Given the description of an element on the screen output the (x, y) to click on. 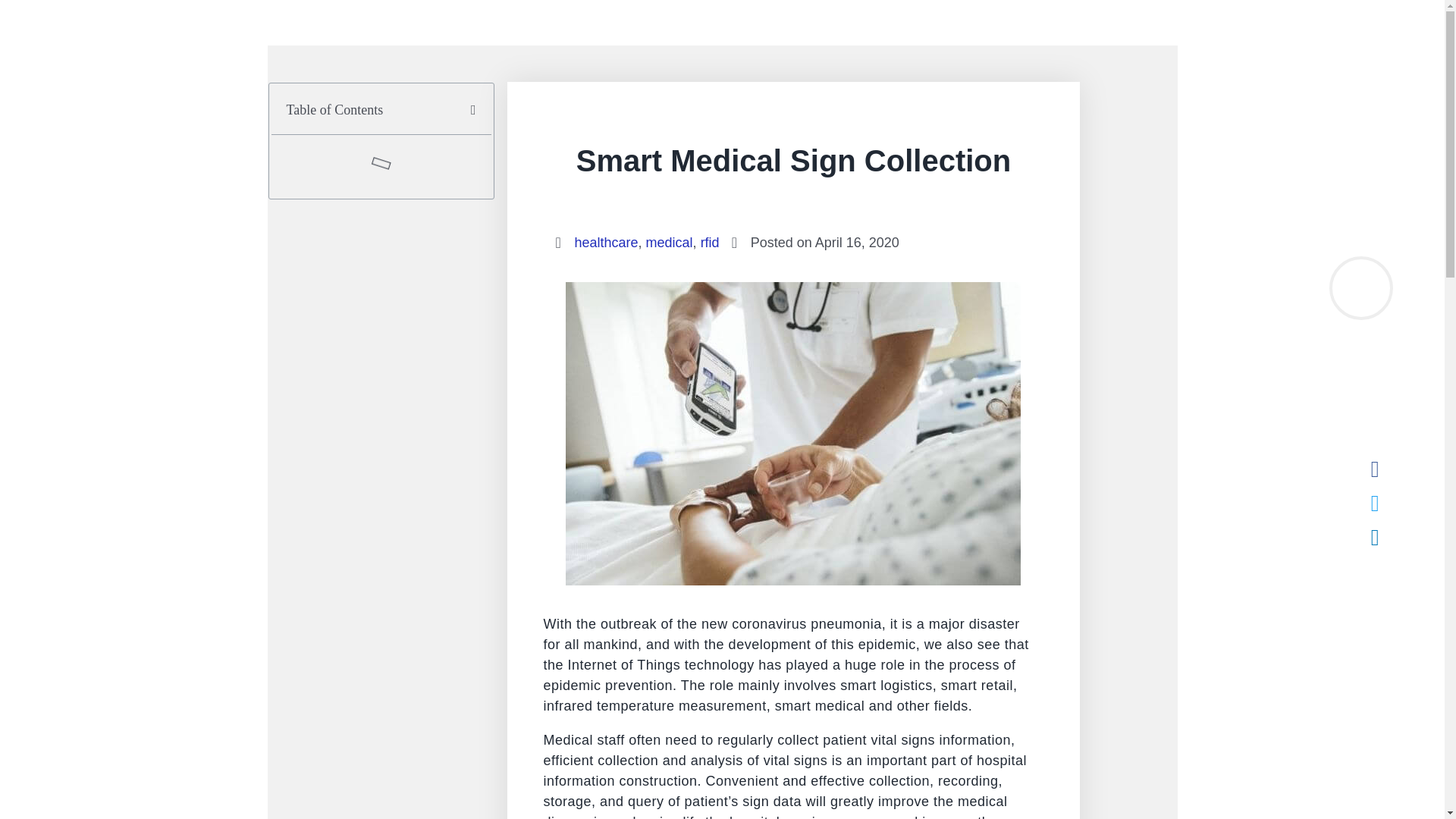
healthcare (607, 242)
medical (669, 242)
rfid (709, 242)
